Given the description of an element on the screen output the (x, y) to click on. 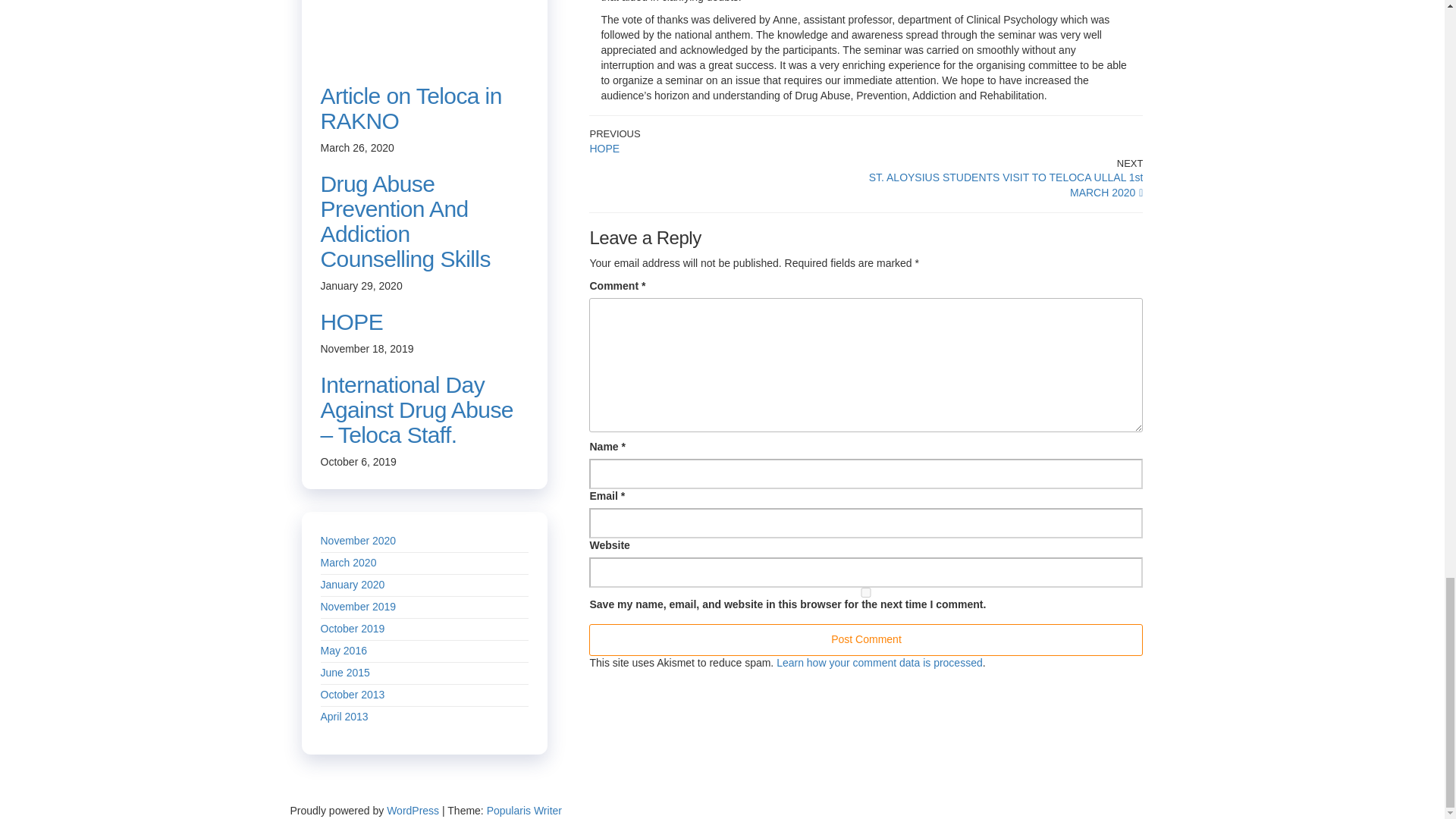
yes (865, 140)
Post Comment (865, 592)
Post Comment (865, 640)
Learn how your comment data is processed (865, 640)
